Given the description of an element on the screen output the (x, y) to click on. 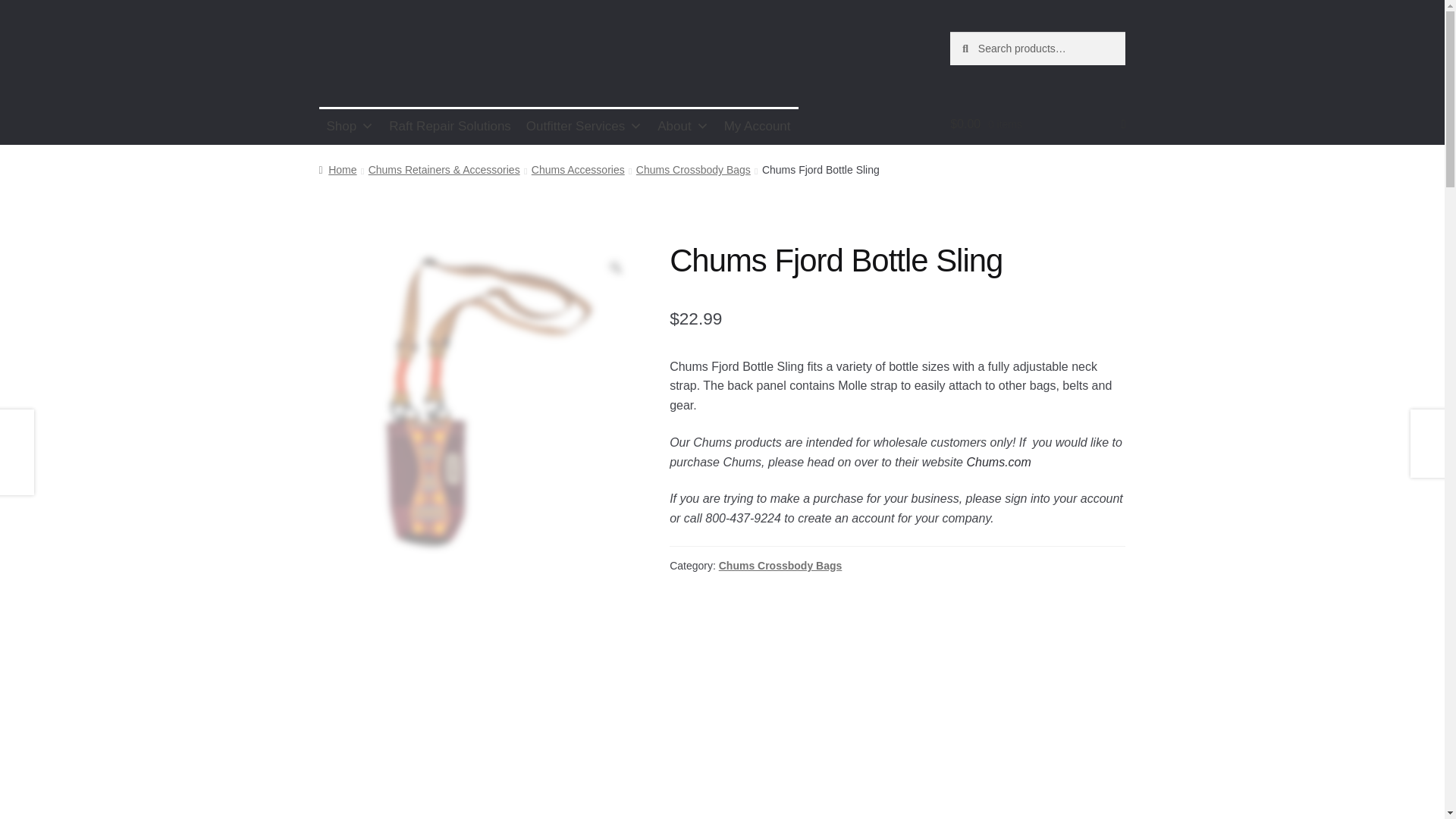
Shop (349, 125)
2024 FjordBottle Fireside (432, 805)
Raft Repair Solutions (449, 125)
View your shopping cart (1037, 124)
Outfitter Services (583, 125)
